Given the description of an element on the screen output the (x, y) to click on. 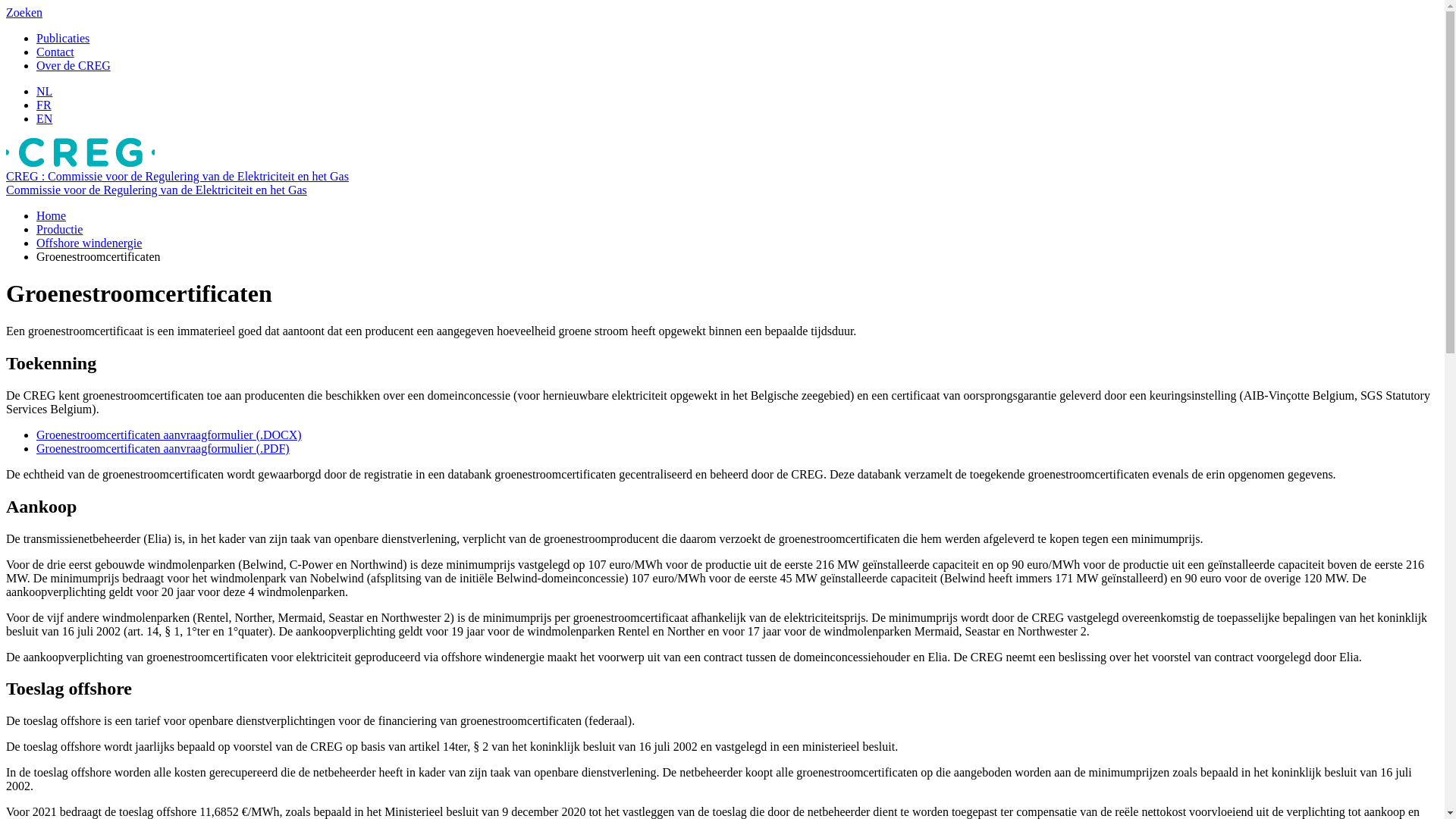
Contact Element type: text (55, 51)
Groenestroomcertificaten aanvraagformulier (. Element type: text (149, 434)
Publicaties Element type: text (62, 37)
Productie Element type: text (59, 228)
FR Element type: text (43, 104)
EN Element type: text (44, 118)
Groenestroomcertificaten aanvraagformulier (. Element type: text (149, 448)
NL Element type: text (44, 90)
Offshore windenergie Element type: text (88, 242)
DOCX) Element type: text (282, 434)
Home Element type: text (50, 215)
PDF) Element type: text (276, 448)
Over de CREG Element type: text (73, 65)
Zoeken Element type: text (24, 12)
